Given the description of an element on the screen output the (x, y) to click on. 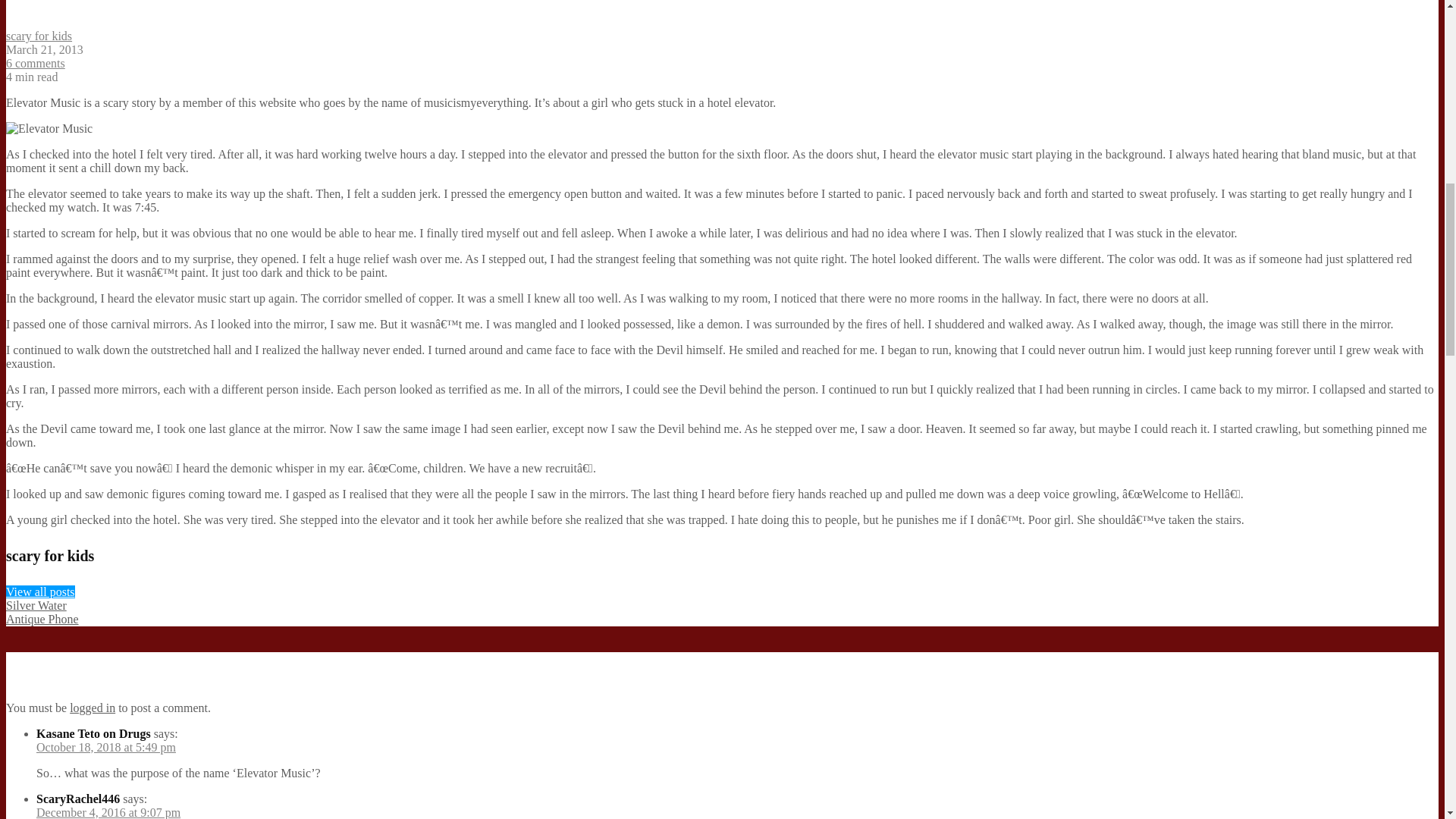
Silver Water (35, 604)
View all posts (40, 591)
Antique Phone (41, 618)
scary for kids (38, 35)
December 4, 2016 at 9:07 pm (108, 812)
Elevator Music (49, 128)
6 comments (35, 62)
logged in (92, 707)
October 18, 2018 at 5:49 pm (106, 747)
